Given the description of an element on the screen output the (x, y) to click on. 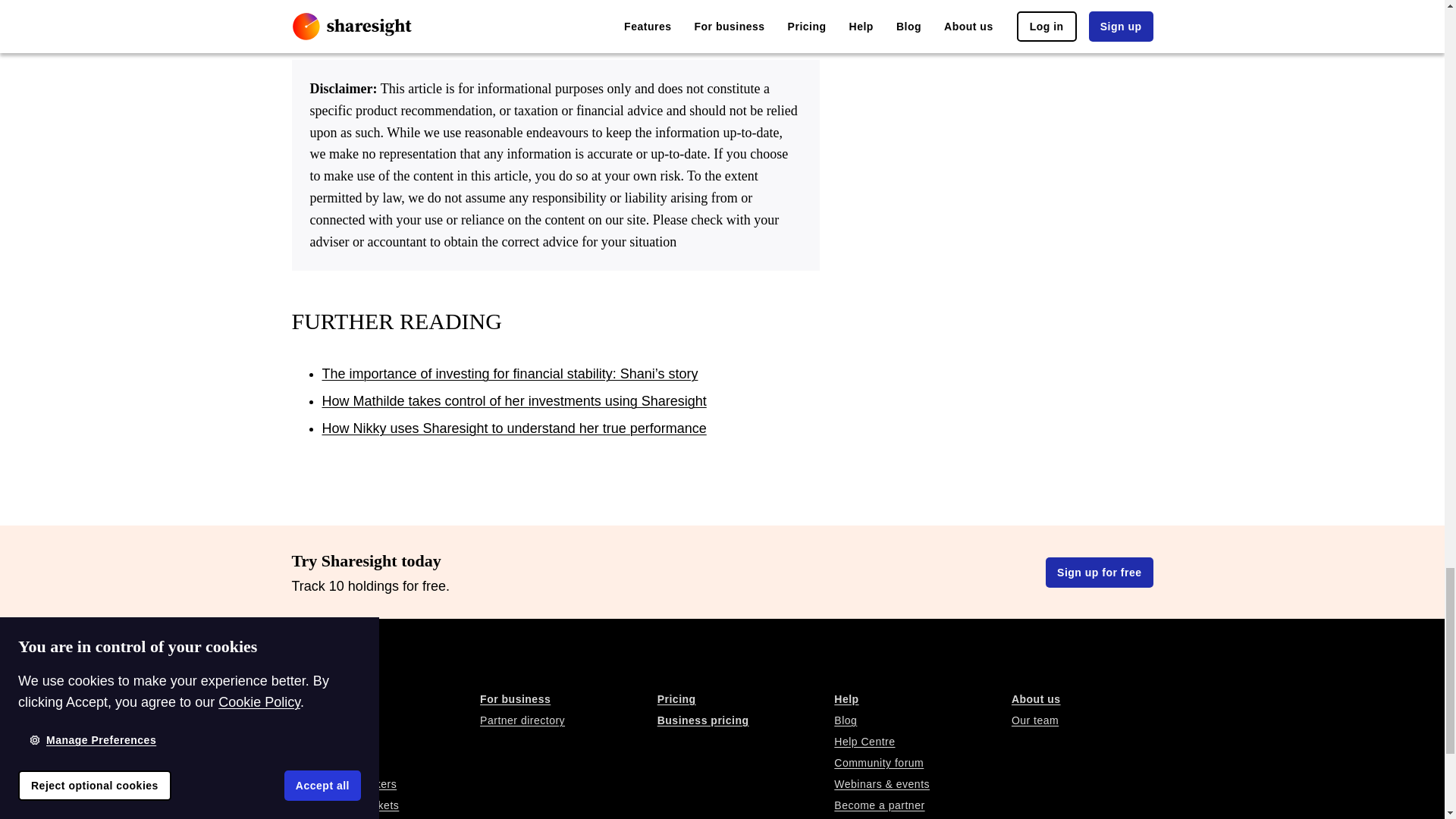
How Nikky uses Sharesight to understand her true performance (513, 427)
Sign up to Sharesight for free (1099, 572)
Supported brokers (385, 783)
